Given the description of an element on the screen output the (x, y) to click on. 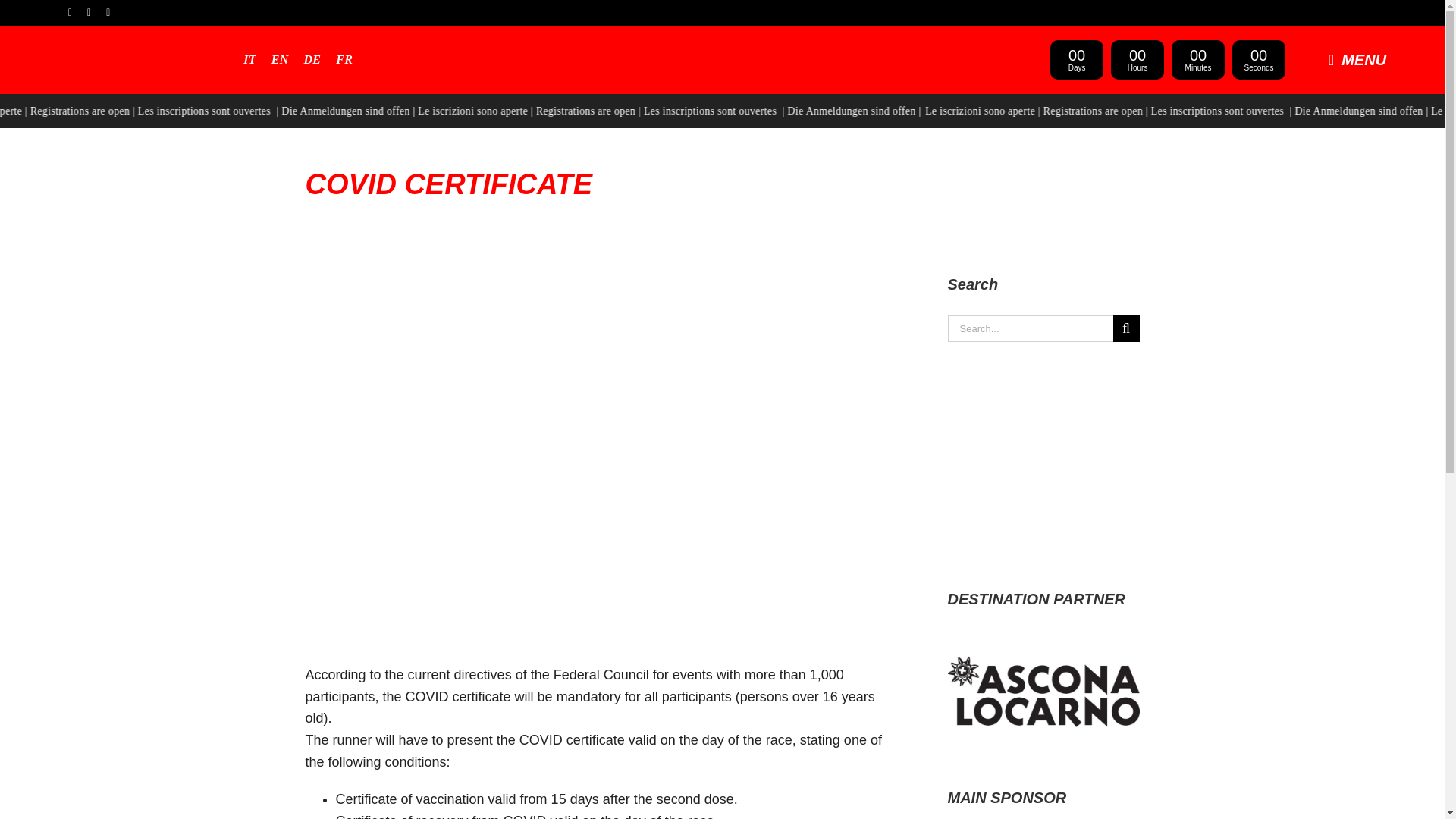
DE (312, 59)
EN (279, 59)
FR (344, 59)
EN (279, 59)
MENU (1363, 59)
DE (312, 59)
FR (344, 59)
